Given the description of an element on the screen output the (x, y) to click on. 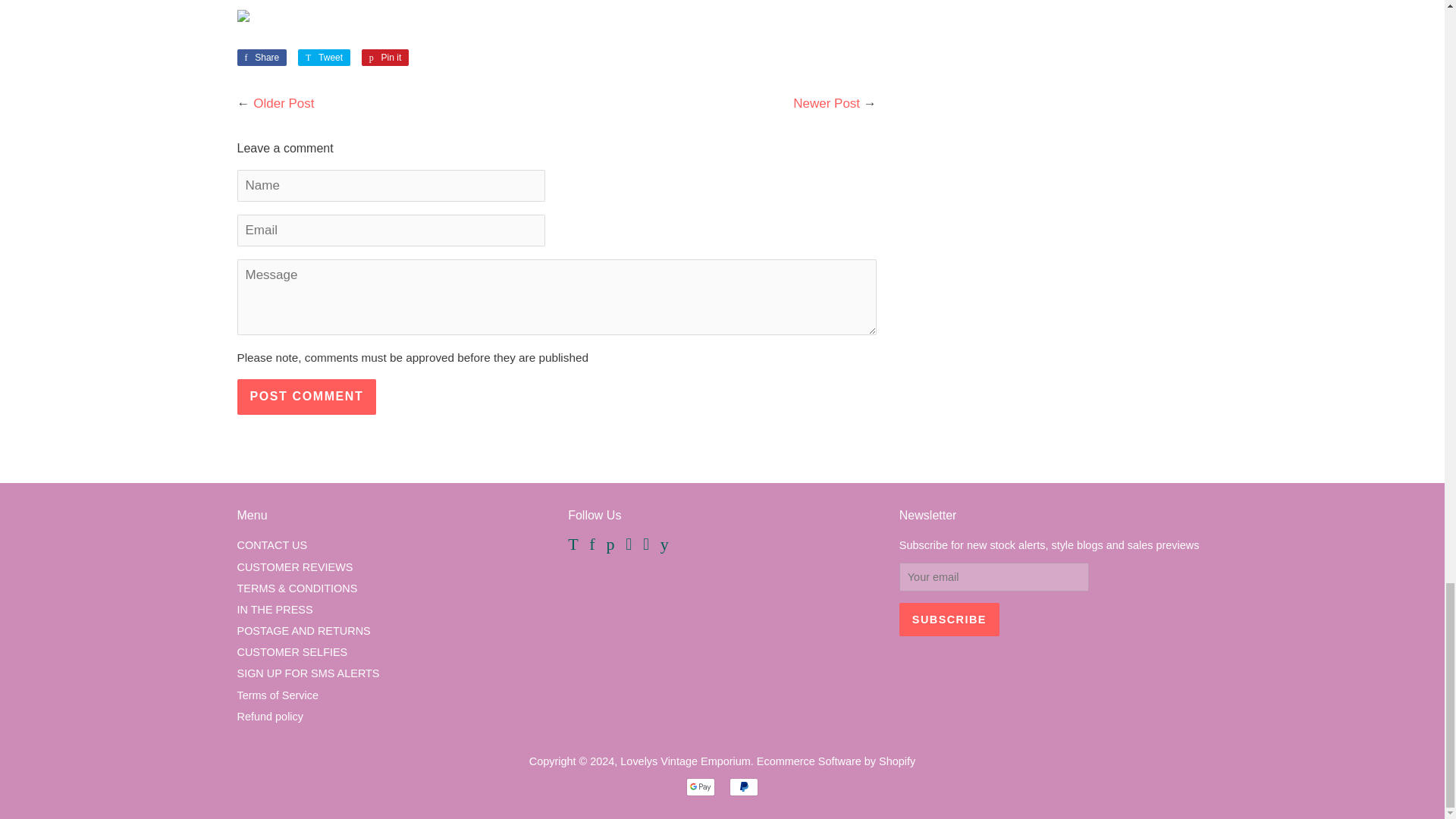
Older Post (283, 103)
CUSTOMER REVIEWS (293, 567)
POSTAGE AND RETURNS (324, 57)
Lovelys Vintage Emporium on Twitter (302, 630)
Pin on Pinterest (260, 57)
PayPal (572, 545)
Subscribe (385, 57)
CUSTOMER SELFIES (385, 57)
IN THE PRESS (743, 787)
Lovelys Vintage Emporium on Facebook (948, 619)
Lovelys Vintage Emporium on Google Plus (291, 652)
SIGN UP FOR SMS ALERTS (274, 609)
